Given the description of an element on the screen output the (x, y) to click on. 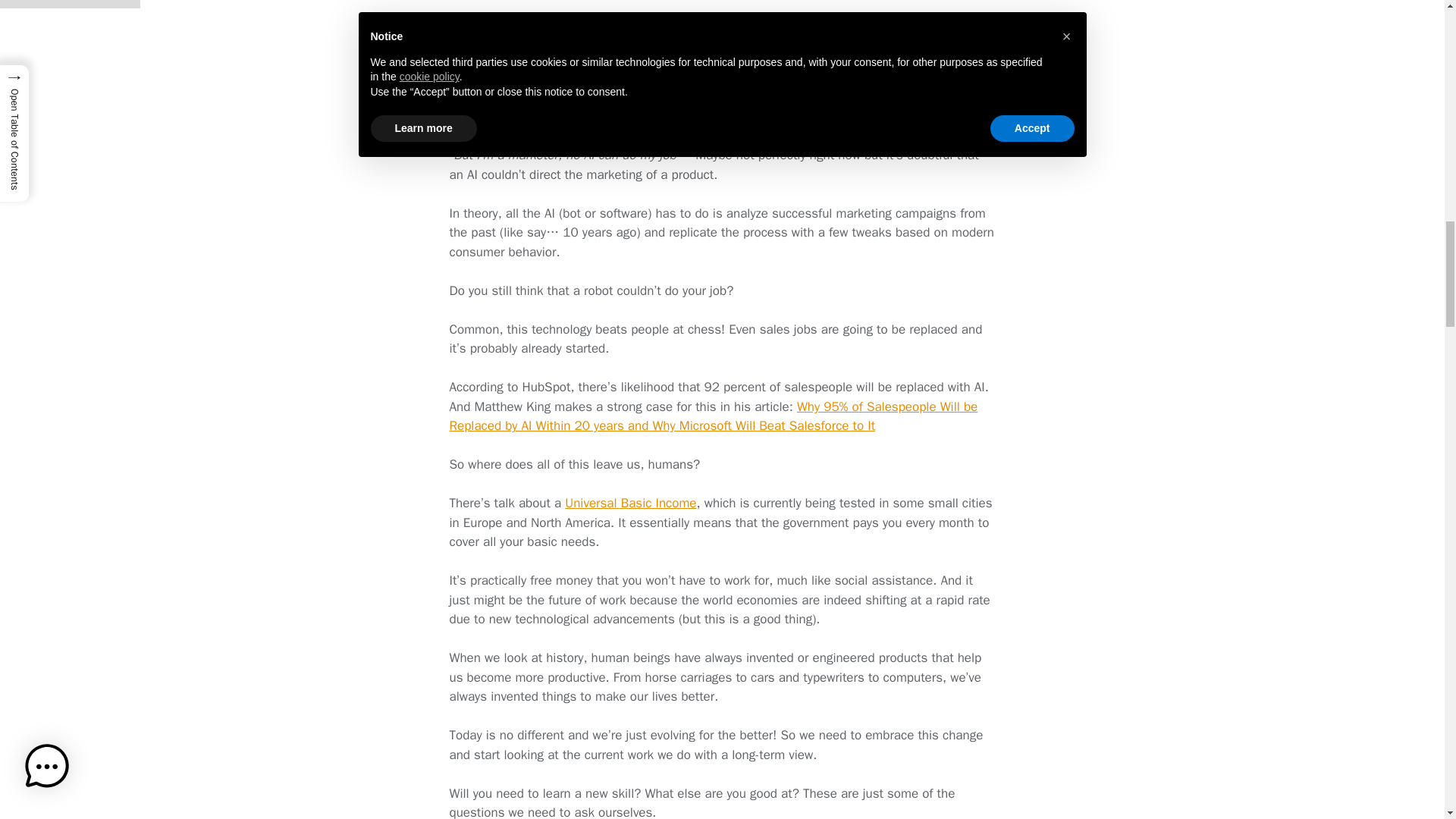
bots can draft legal docs (687, 38)
